Given the description of an element on the screen output the (x, y) to click on. 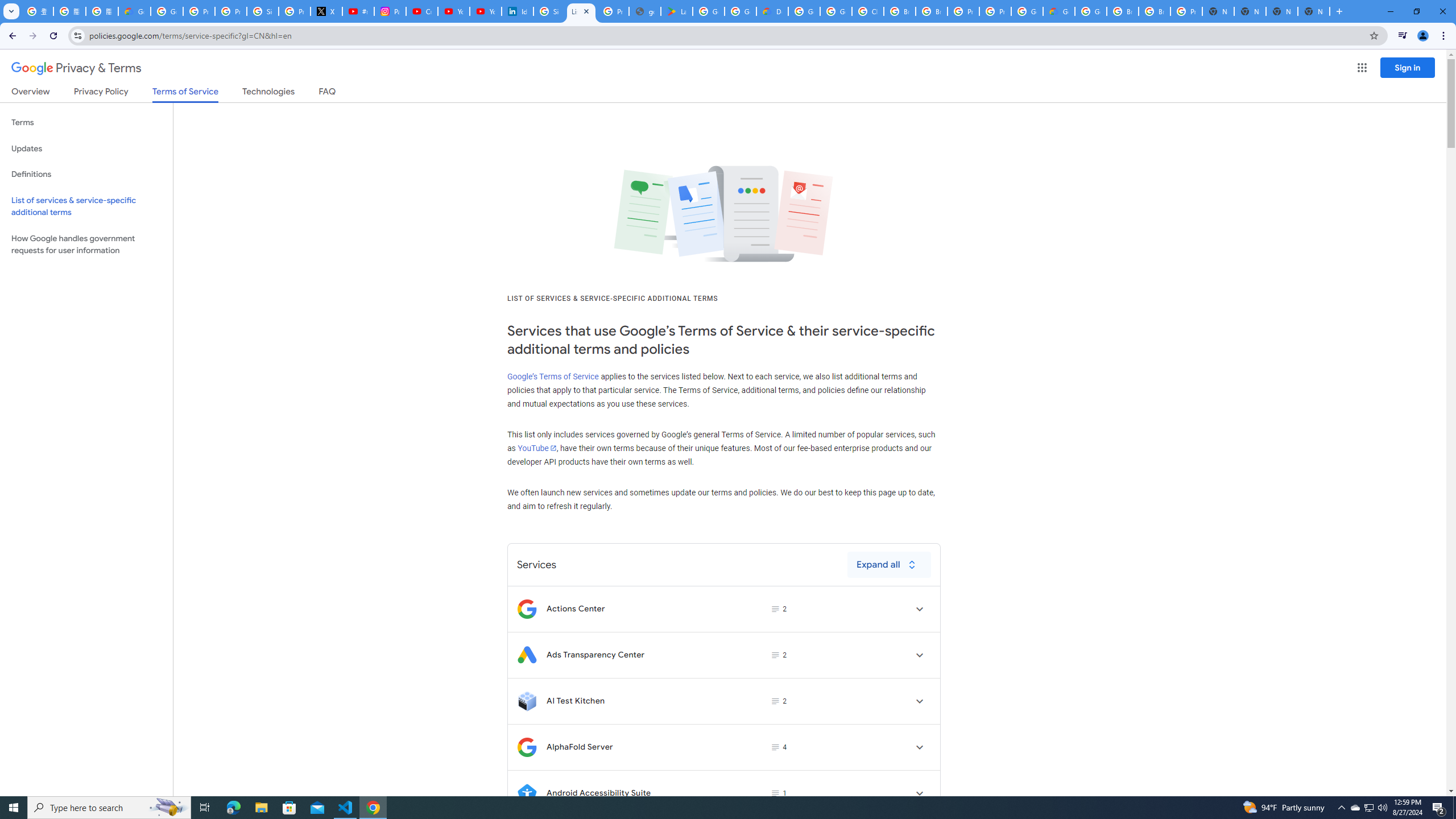
YouTube (536, 447)
How Google handles government requests for user information (86, 244)
Logo for AlphaFold Server (526, 746)
Browse Chrome as a guest - Computer - Google Chrome Help (1123, 11)
Sign in - Google Accounts (549, 11)
Privacy Help Center - Policies Help (230, 11)
